Given the description of an element on the screen output the (x, y) to click on. 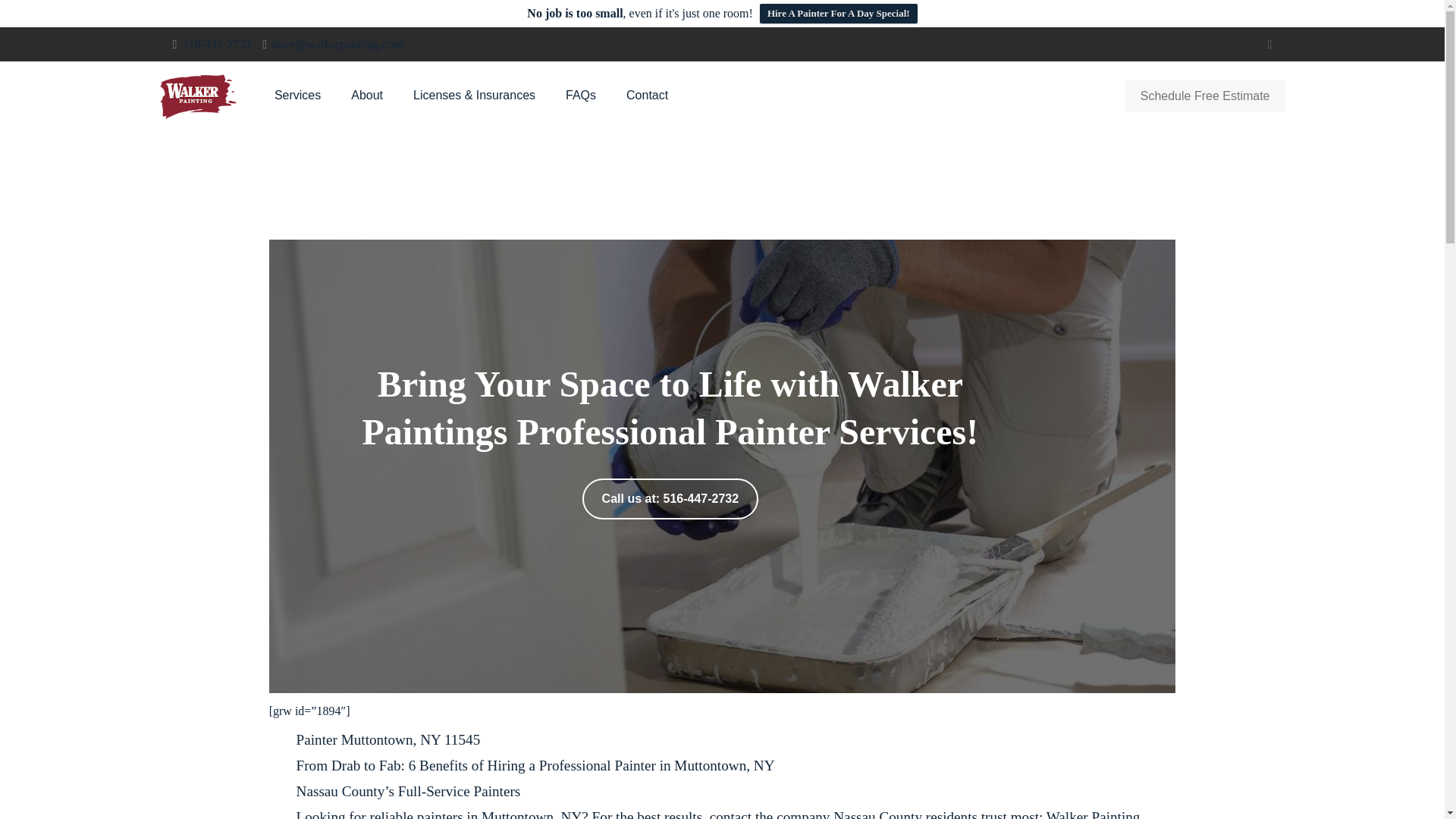
Hire A Painter For A Day Special! (838, 13)
About (366, 95)
Walker Painting (196, 95)
FAQs (580, 95)
516-447-2732 (216, 43)
Facebook (1269, 44)
Schedule Free Estimate (1205, 95)
Contact (646, 95)
Call us at: 516-447-2732 (670, 498)
Services (297, 95)
